Given the description of an element on the screen output the (x, y) to click on. 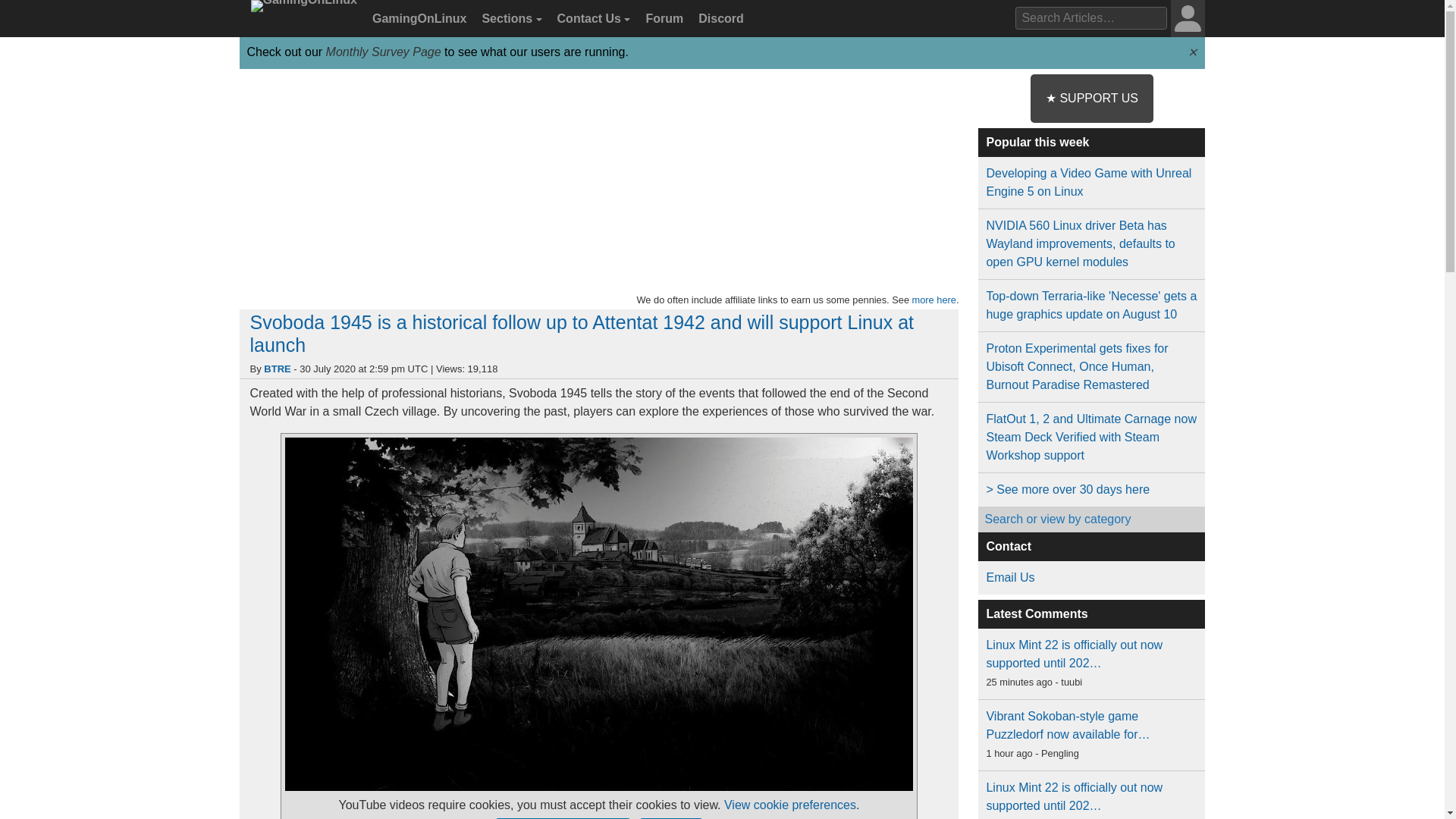
GamingOnLinux (417, 19)
Sections (509, 19)
Forum (662, 19)
Contact Us (592, 19)
Hide Announcement (1192, 51)
Monthly Survey Page (383, 51)
GamingOnLinux Home (301, 23)
Discord (719, 19)
